Given the description of an element on the screen output the (x, y) to click on. 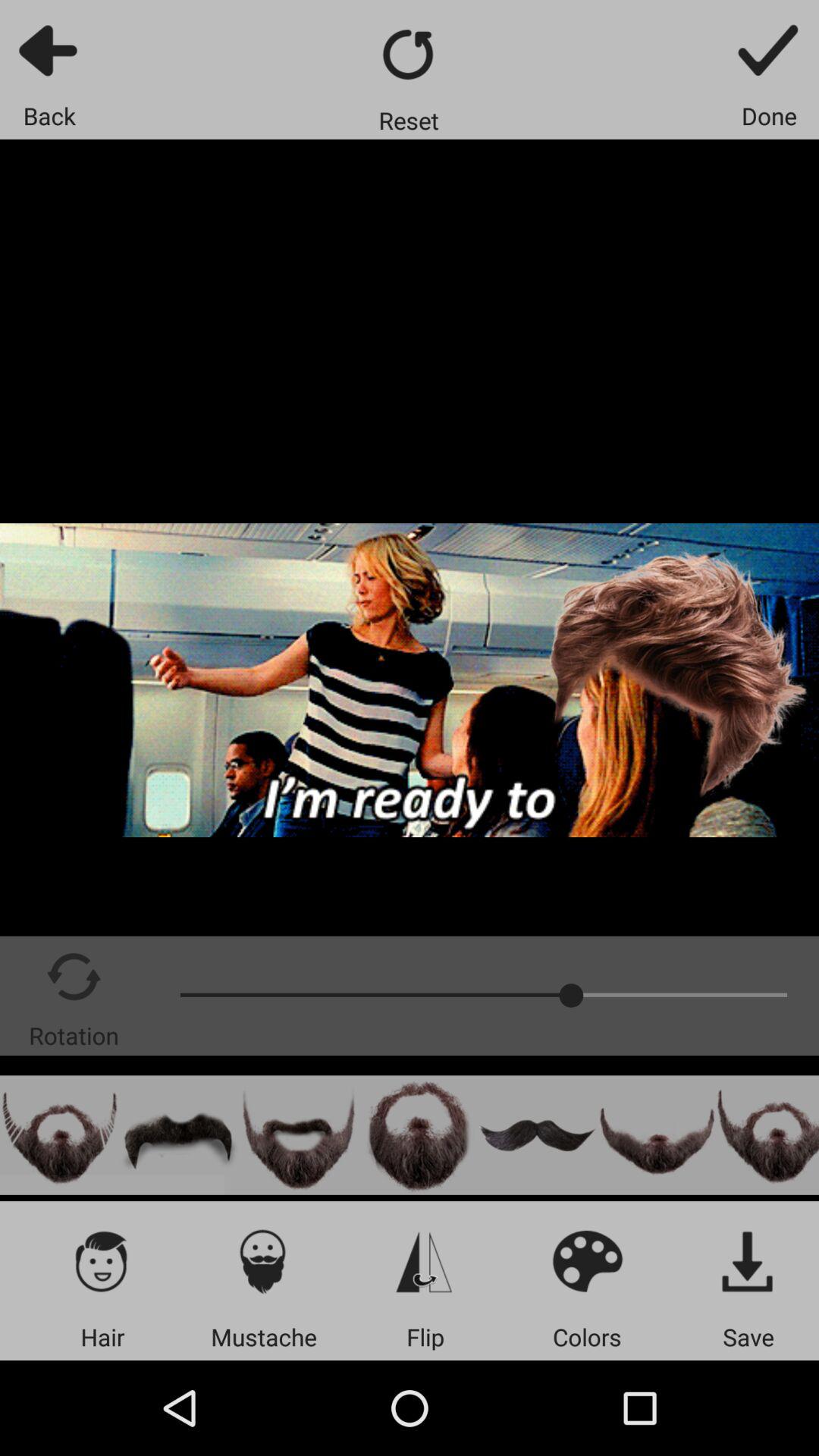
drage hair onto picture (178, 1134)
